Given the description of an element on the screen output the (x, y) to click on. 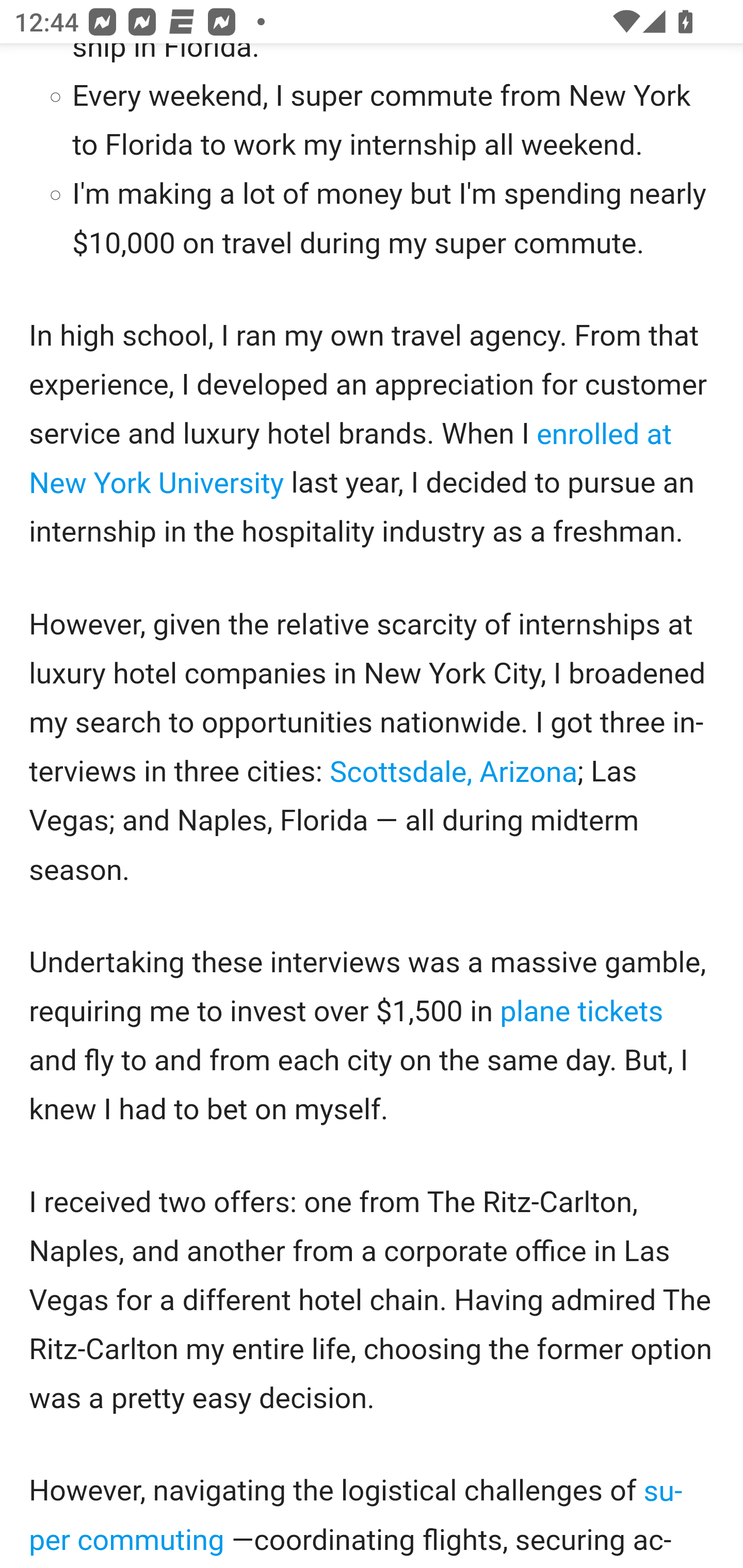
enrolled at New York University (350, 458)
Scottsdale, Arizona (453, 772)
plane tickets (581, 1012)
super commuting (356, 1515)
